Given the description of an element on the screen output the (x, y) to click on. 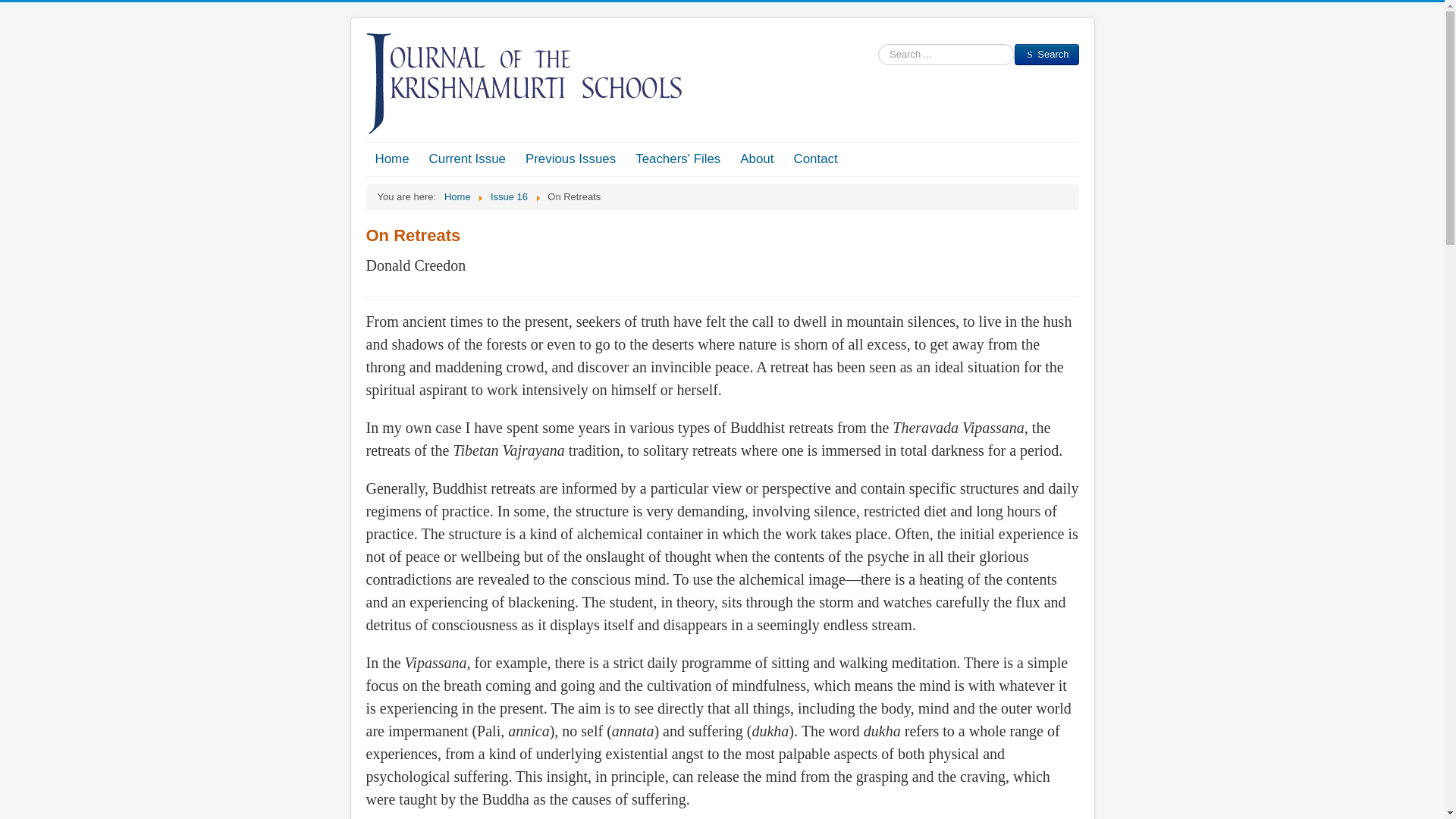
Search (1046, 54)
Teachers' Files (677, 159)
Home (391, 159)
Contact (814, 159)
Previous Issues (570, 159)
Current Issue (467, 159)
About (756, 159)
